Given the description of an element on the screen output the (x, y) to click on. 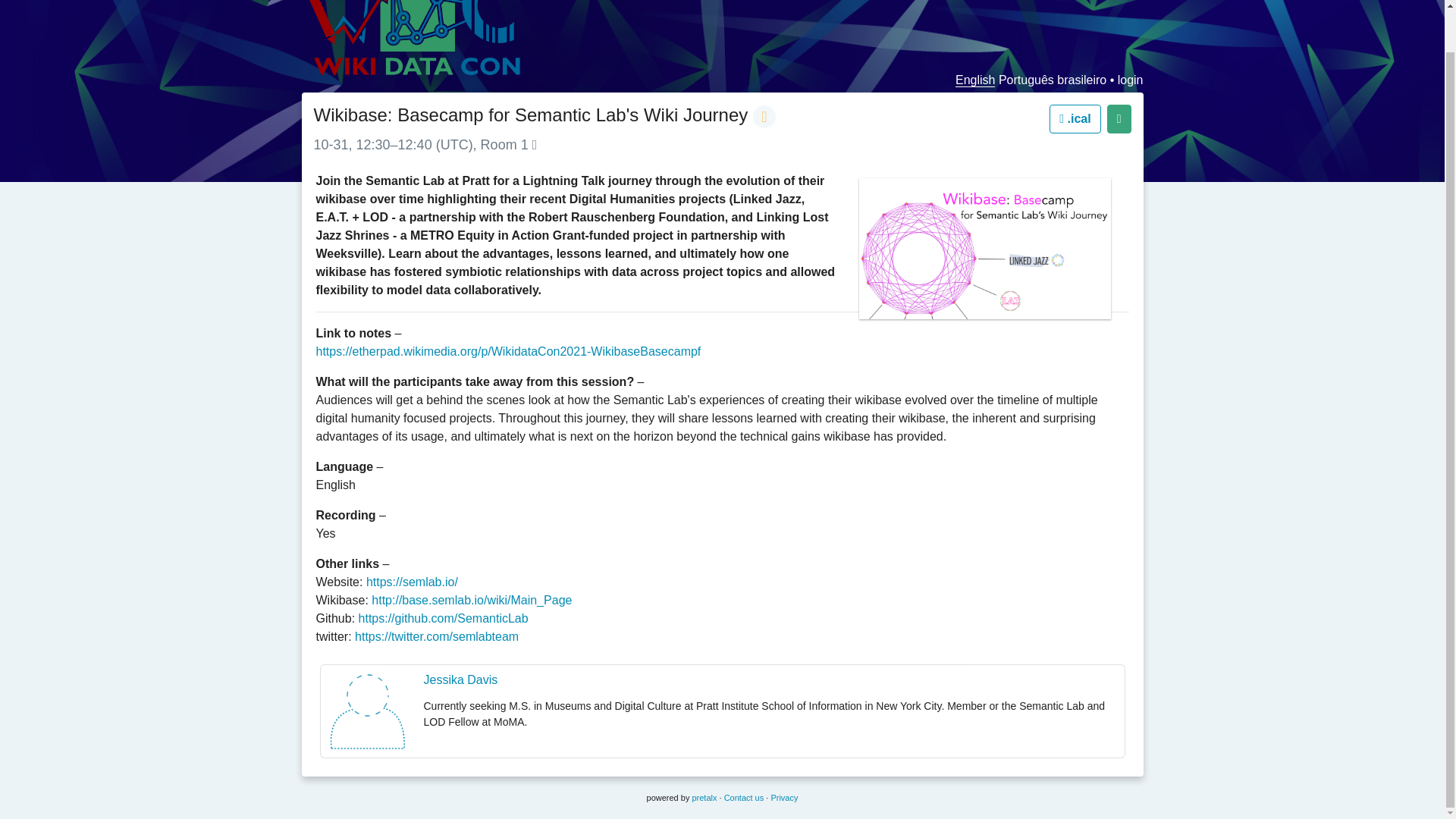
login (1130, 80)
Jessika Davis (460, 679)
.ical (1074, 118)
Contact us (743, 797)
English (974, 79)
Privacy (783, 797)
pretalx (703, 797)
